Given the description of an element on the screen output the (x, y) to click on. 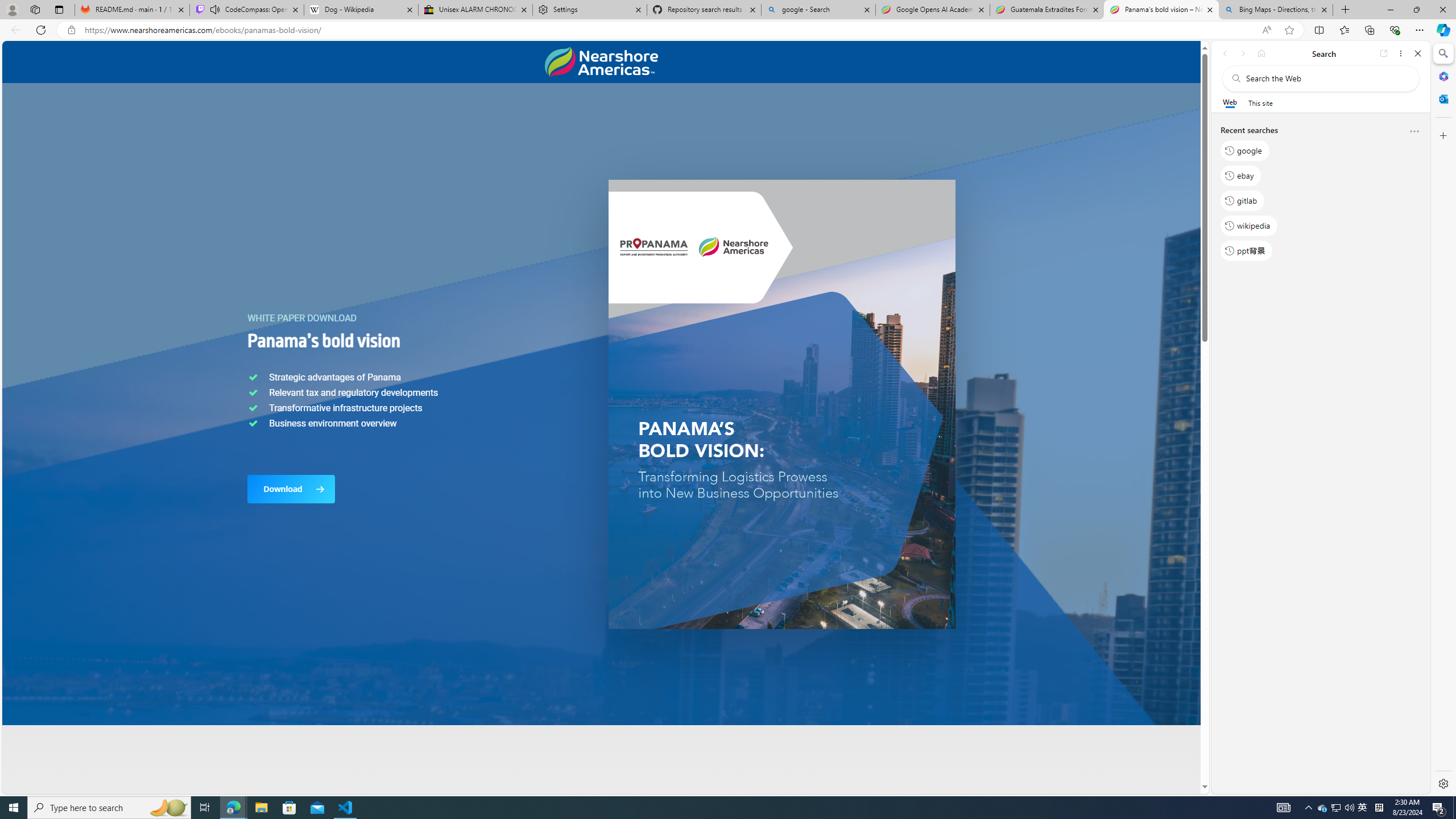
Dog - Wikipedia (360, 9)
App bar (728, 29)
View site information (70, 29)
Class: slide_out_area_close (1257, 417)
Collections (1369, 29)
Copilot (Ctrl+Shift+.) (1442, 29)
Forward (1242, 53)
Search (1442, 53)
Customize (1442, 135)
Web scope (1230, 102)
Close (1417, 53)
Personal Profile (12, 9)
Class: center (601, 61)
Mute tab (215, 8)
